Given the description of an element on the screen output the (x, y) to click on. 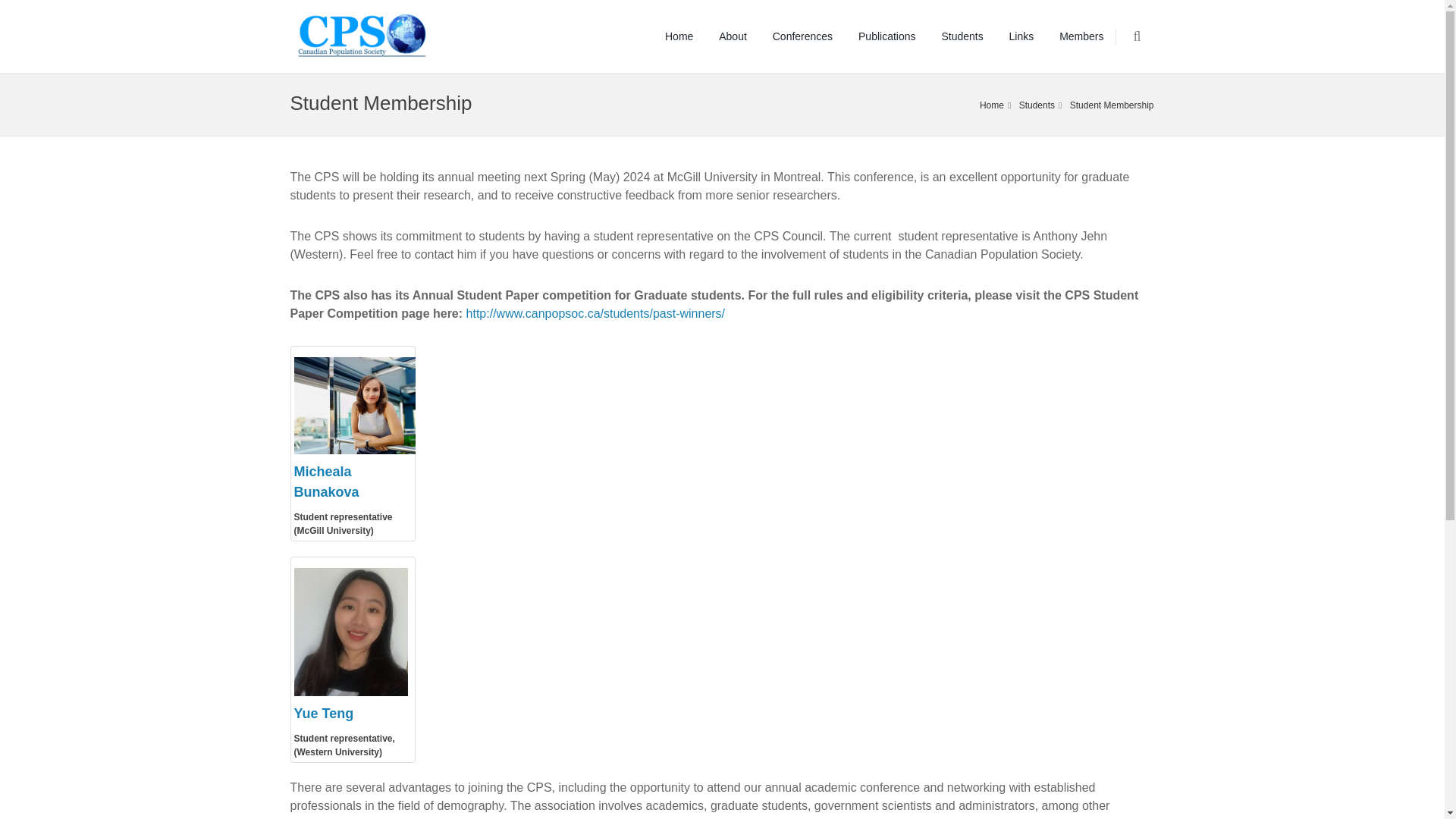
Students (1036, 104)
Conferences (802, 36)
Home (991, 104)
Publications (887, 36)
Micheala Bunakova (326, 481)
Members (1081, 36)
Student Membership (1112, 104)
Yue Teng (323, 713)
